Given the description of an element on the screen output the (x, y) to click on. 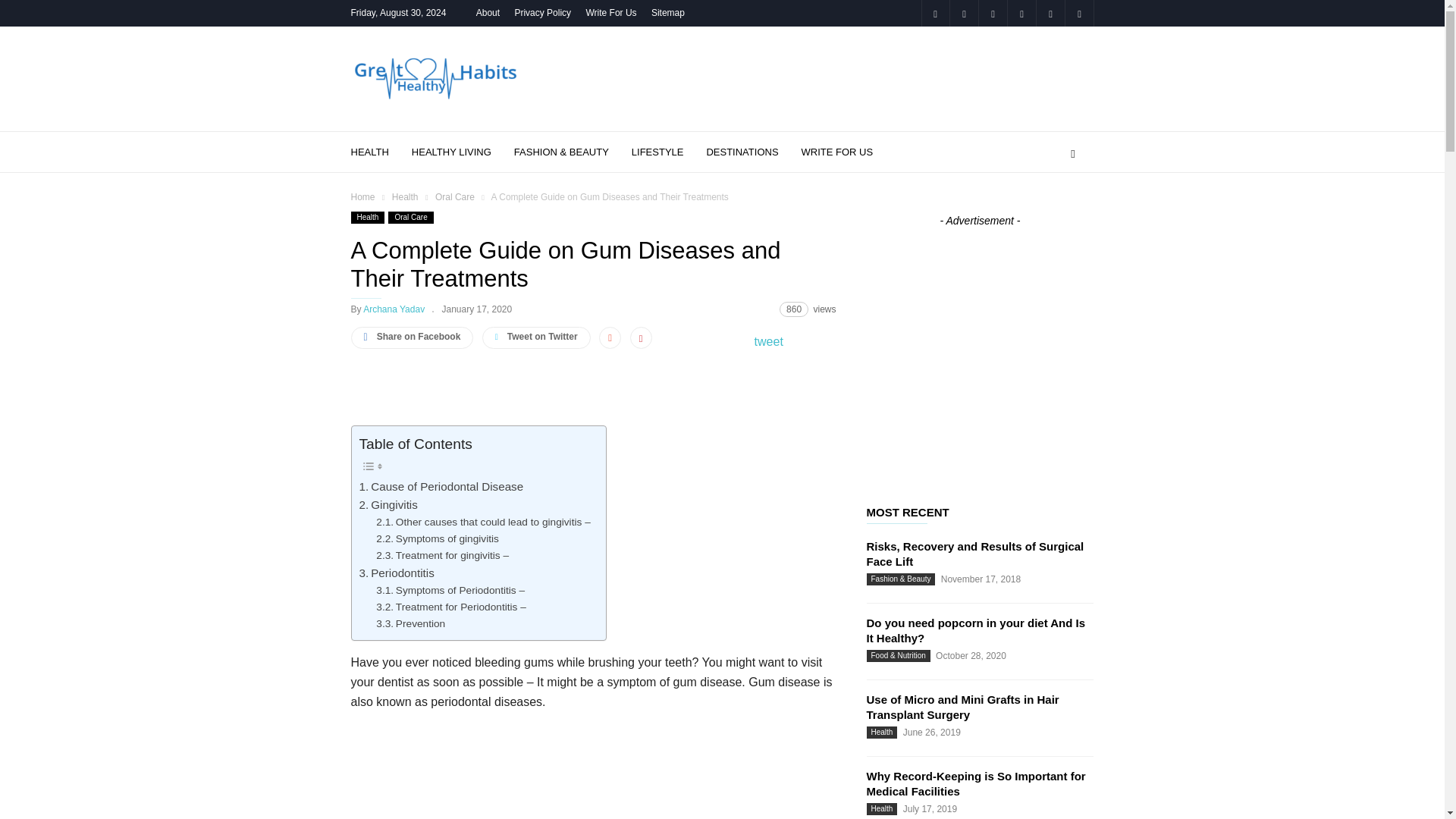
Mail (963, 13)
Privacy Policy (541, 12)
Twitter (1078, 13)
StumbleUpon (1049, 13)
RSS (1021, 13)
Facebook (934, 13)
About (487, 12)
Pinterest (992, 13)
